Given the description of an element on the screen output the (x, y) to click on. 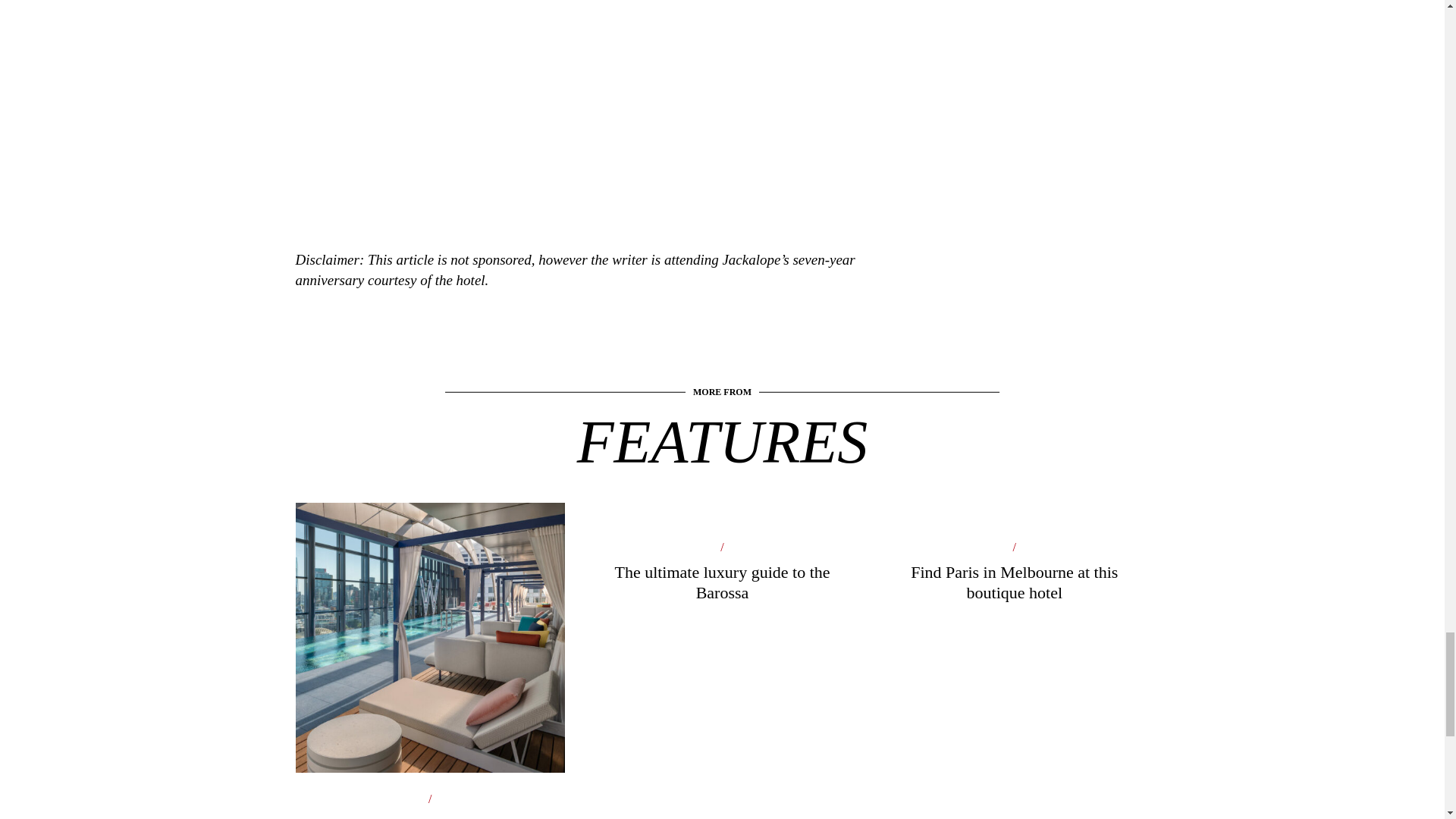
The ultimate luxury guide to the Barossa (722, 588)
How a staycation can boost your winter wellness (429, 724)
The ultimate luxury guide to the Barossa (722, 588)
How a staycation can boost your winter wellness (429, 724)
Find Paris in Melbourne at this boutique hotel (1013, 588)
